Given the description of an element on the screen output the (x, y) to click on. 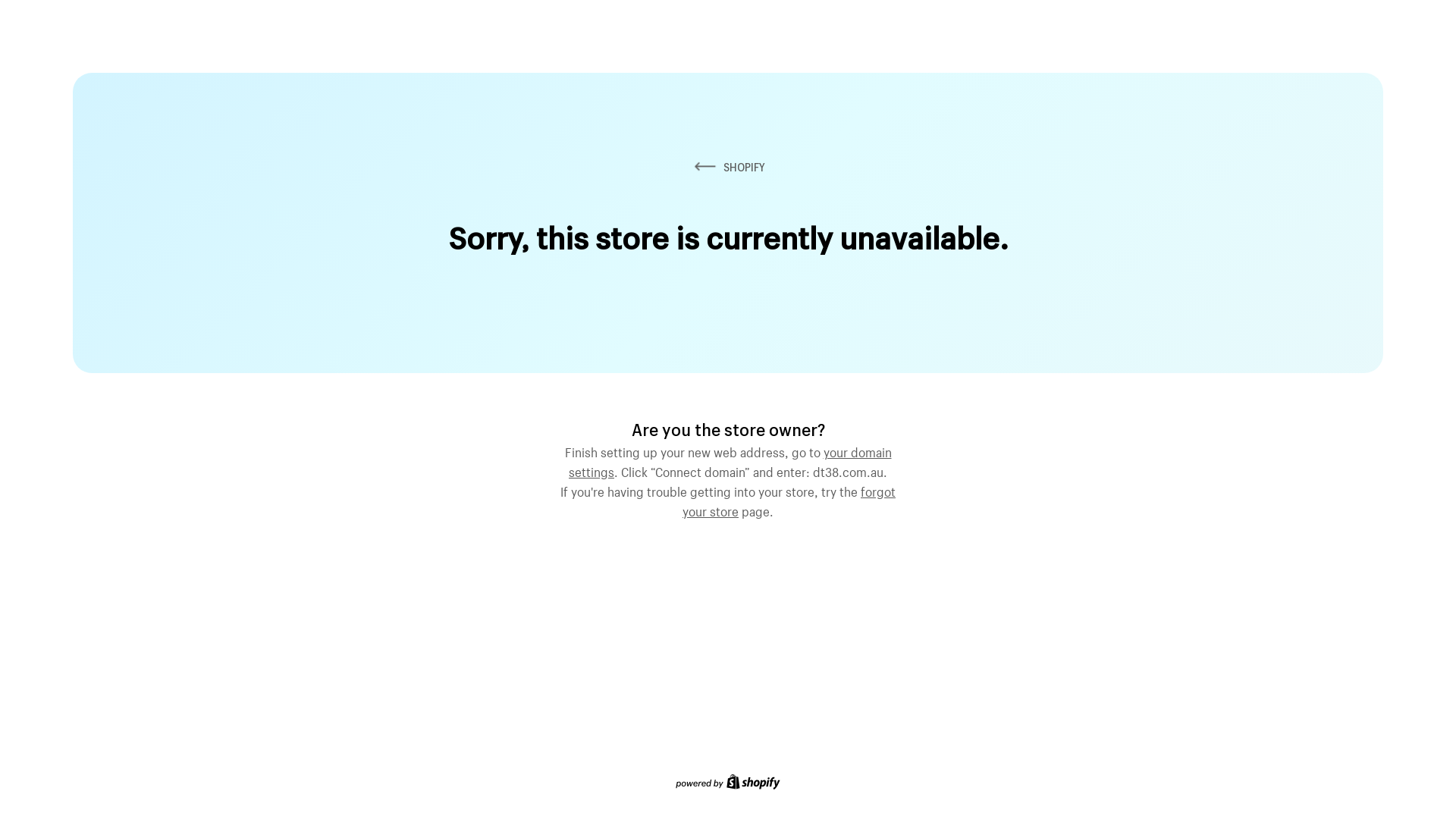
SHOPIFY Element type: text (727, 167)
forgot your store Element type: text (788, 499)
your domain settings Element type: text (729, 460)
